Given the description of an element on the screen output the (x, y) to click on. 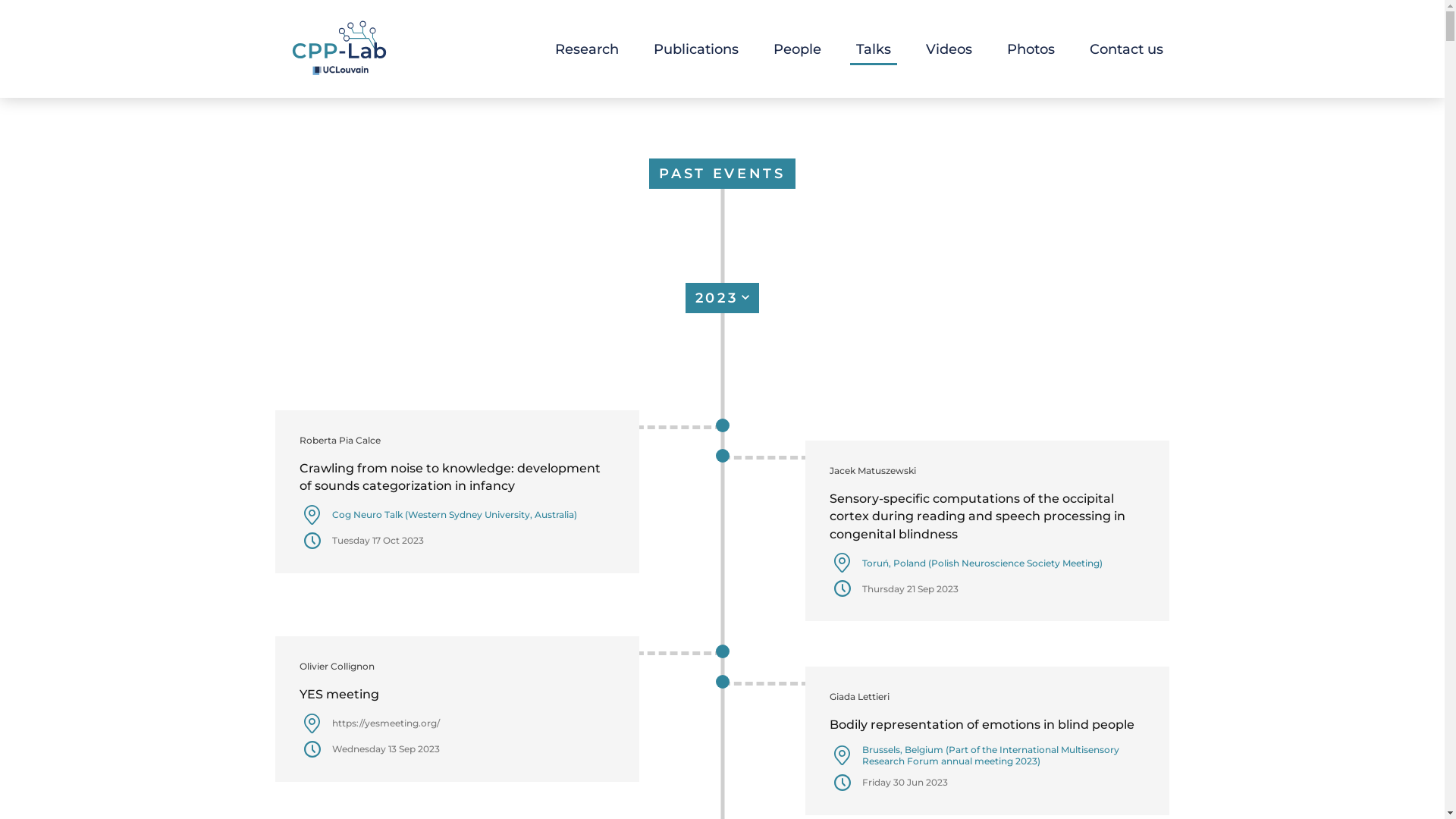
Cog Neuro Talk (Western Sydney University, Australia) Element type: text (473, 514)
Photos Element type: text (1030, 49)
Publications Element type: text (695, 49)
Research Element type: text (586, 49)
Talks Element type: text (873, 49)
Contact us Element type: text (1126, 49)
People Element type: text (797, 49)
Videos Element type: text (948, 49)
